Given the description of an element on the screen output the (x, y) to click on. 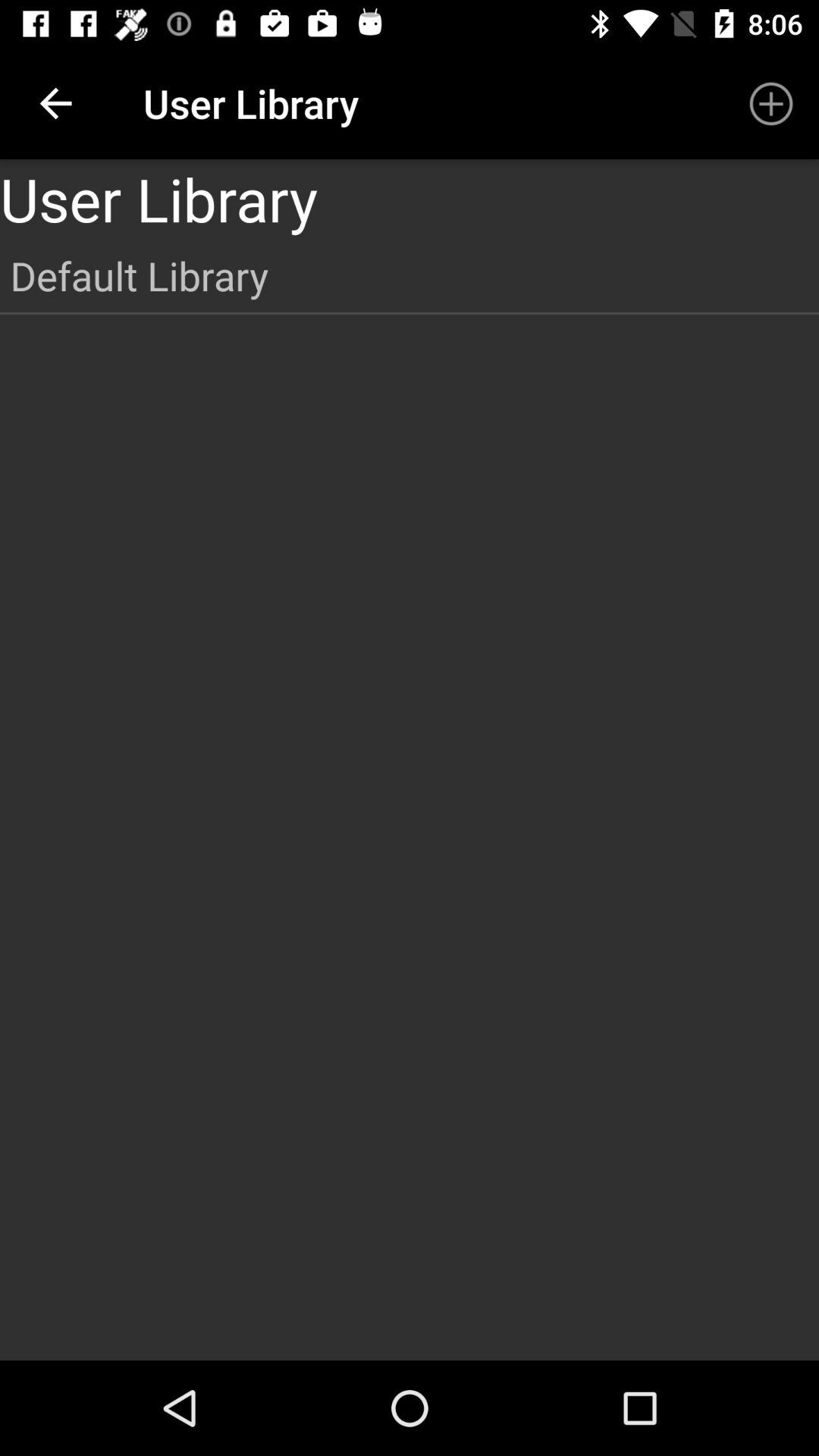
click the item at the top right corner (771, 103)
